Given the description of an element on the screen output the (x, y) to click on. 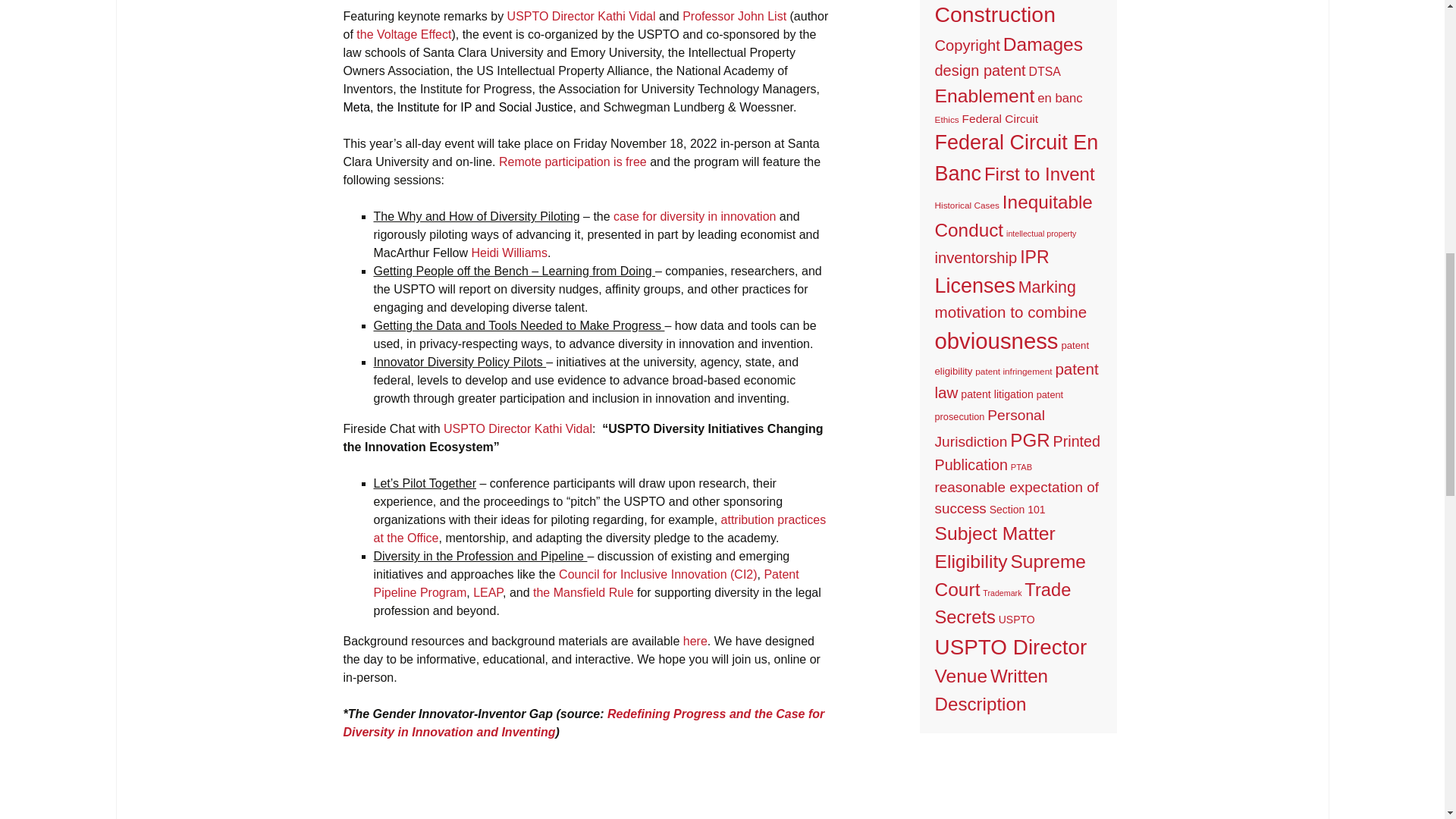
attribution practices at the Office (598, 528)
Professor John List (734, 15)
LEAP (487, 592)
Remote participation is free (574, 161)
Patent Pipeline Program (584, 583)
here (694, 640)
USPTO Director Kathi Vidal (518, 428)
case for diversity in innovation (694, 215)
the Mansfield Rule (582, 592)
USPTO Director Kathi Vidal (581, 15)
the Voltage Effect (403, 33)
Heidi Williams (508, 252)
